Given the description of an element on the screen output the (x, y) to click on. 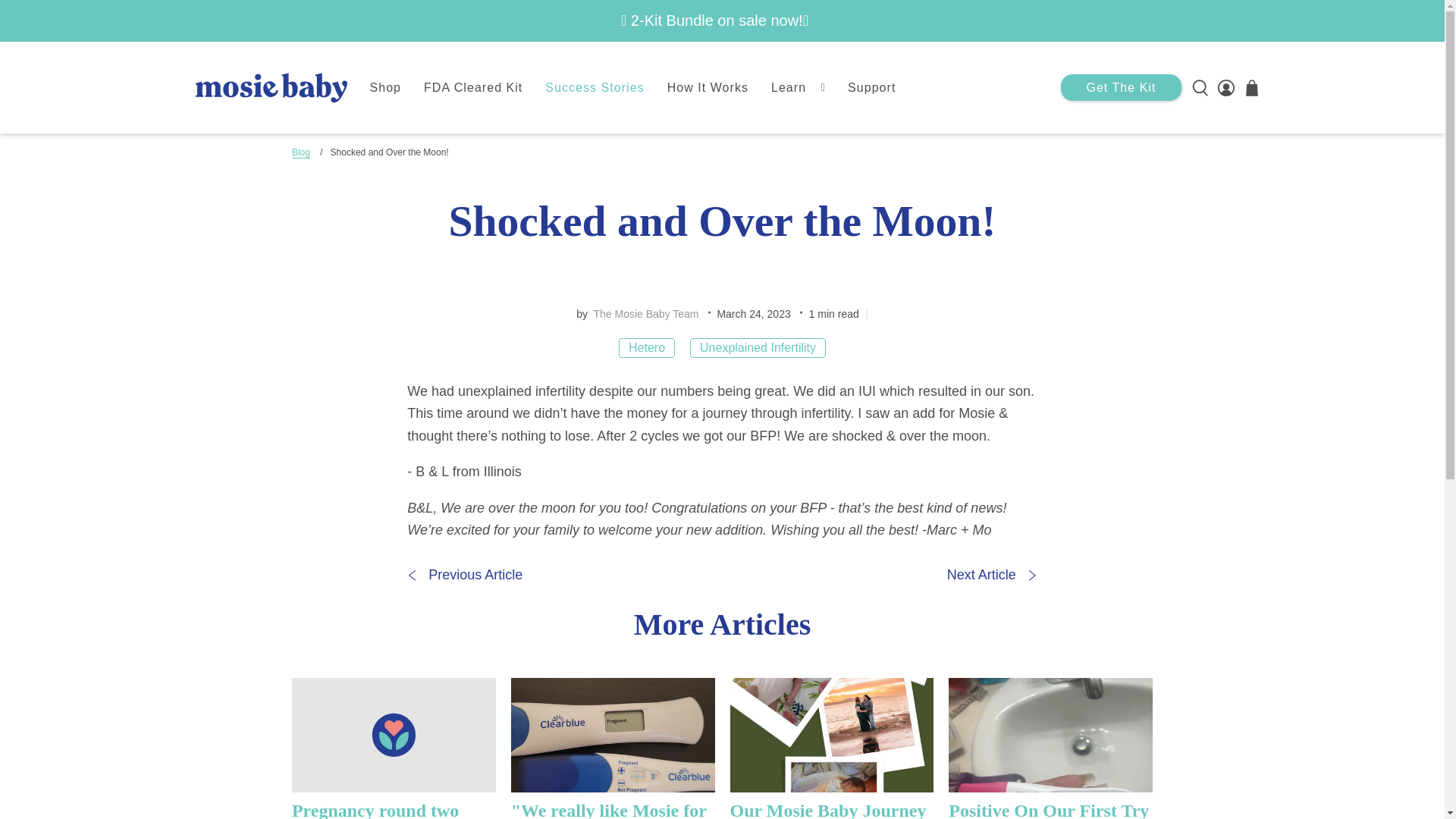
Unexplained Infertility (757, 348)
More Articles (722, 624)
Blog (301, 152)
Get The Kit (1120, 87)
Success Stories (594, 87)
How It Works (708, 87)
FDA Cleared Kit (473, 87)
 The Mosie Baby Team (644, 313)
Shop (385, 87)
Next (991, 575)
